Given the description of an element on the screen output the (x, y) to click on. 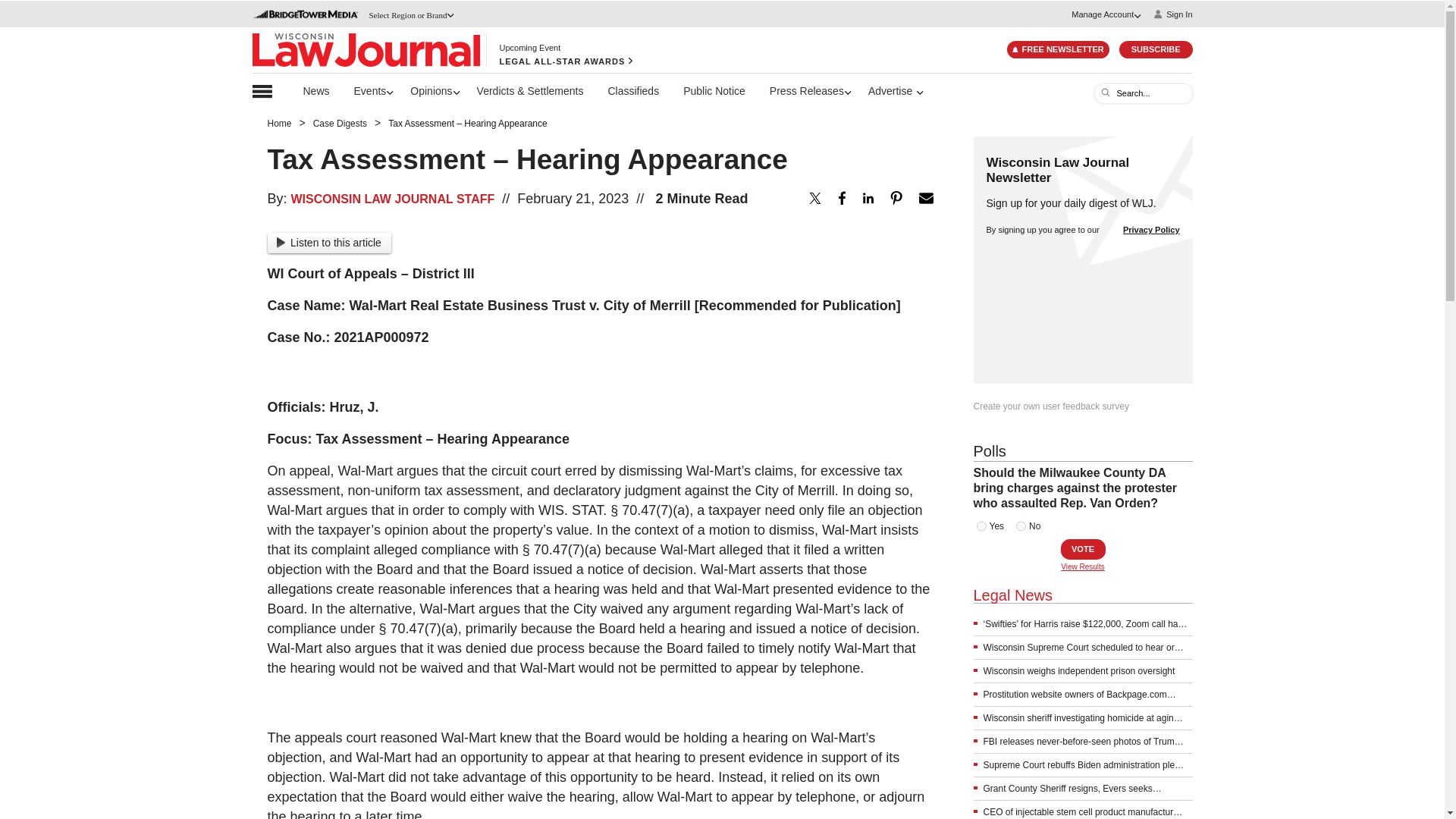
Share by Email (925, 197)
503 (981, 525)
504 (1021, 525)
View Results Of This Poll (1083, 566)
   Vote    (1082, 548)
